Given the description of an element on the screen output the (x, y) to click on. 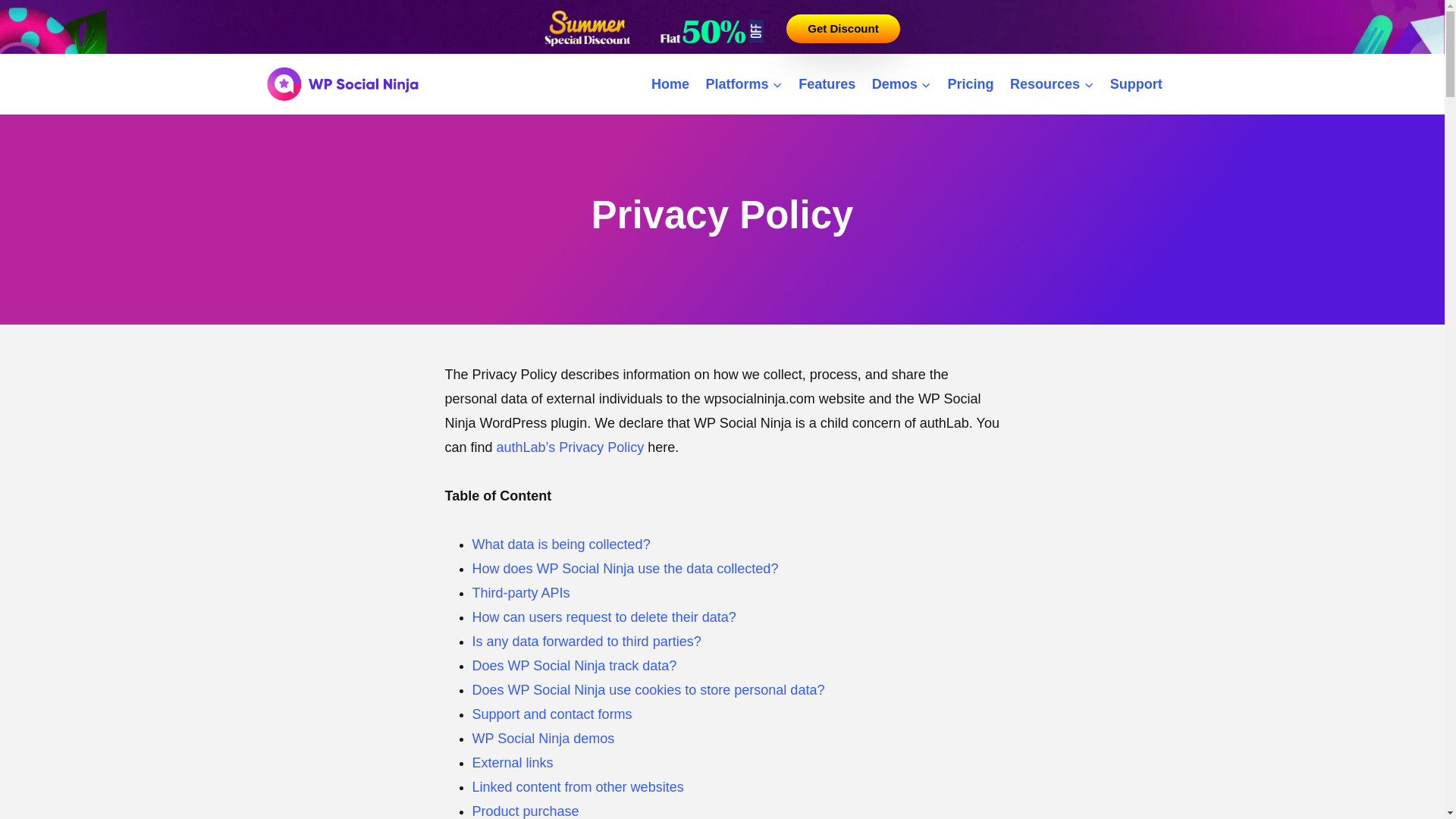
Demos (901, 83)
Features (826, 83)
Platforms (743, 83)
Home (670, 83)
Get Discount (842, 28)
